Given the description of an element on the screen output the (x, y) to click on. 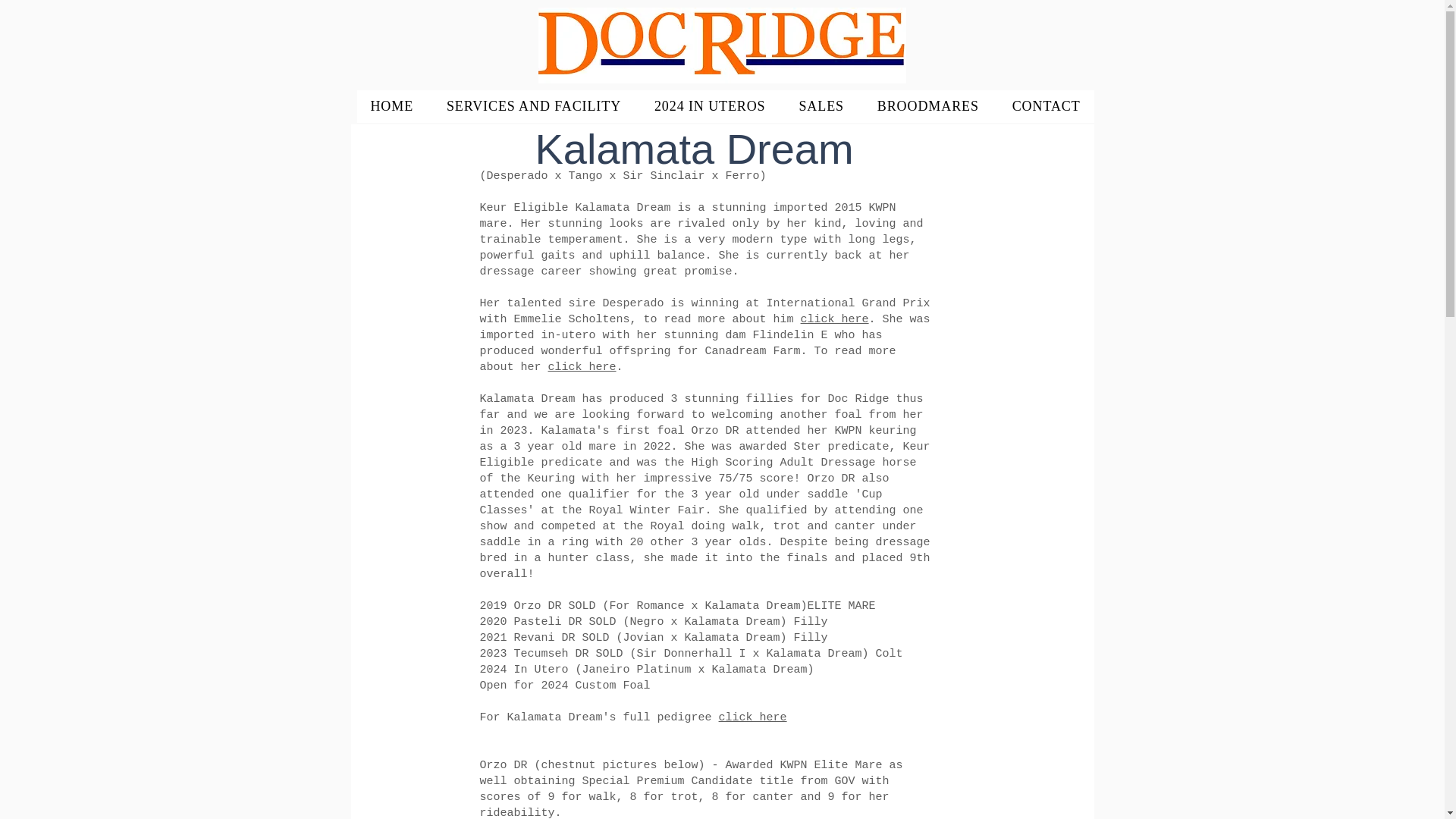
2024 IN UTEROS (709, 106)
HOME (391, 106)
click here (581, 367)
SALES (820, 106)
CONTACT (1046, 106)
SERVICES AND FACILITY (533, 106)
click here (834, 318)
click here (753, 717)
BROODMARES (927, 106)
